Given the description of an element on the screen output the (x, y) to click on. 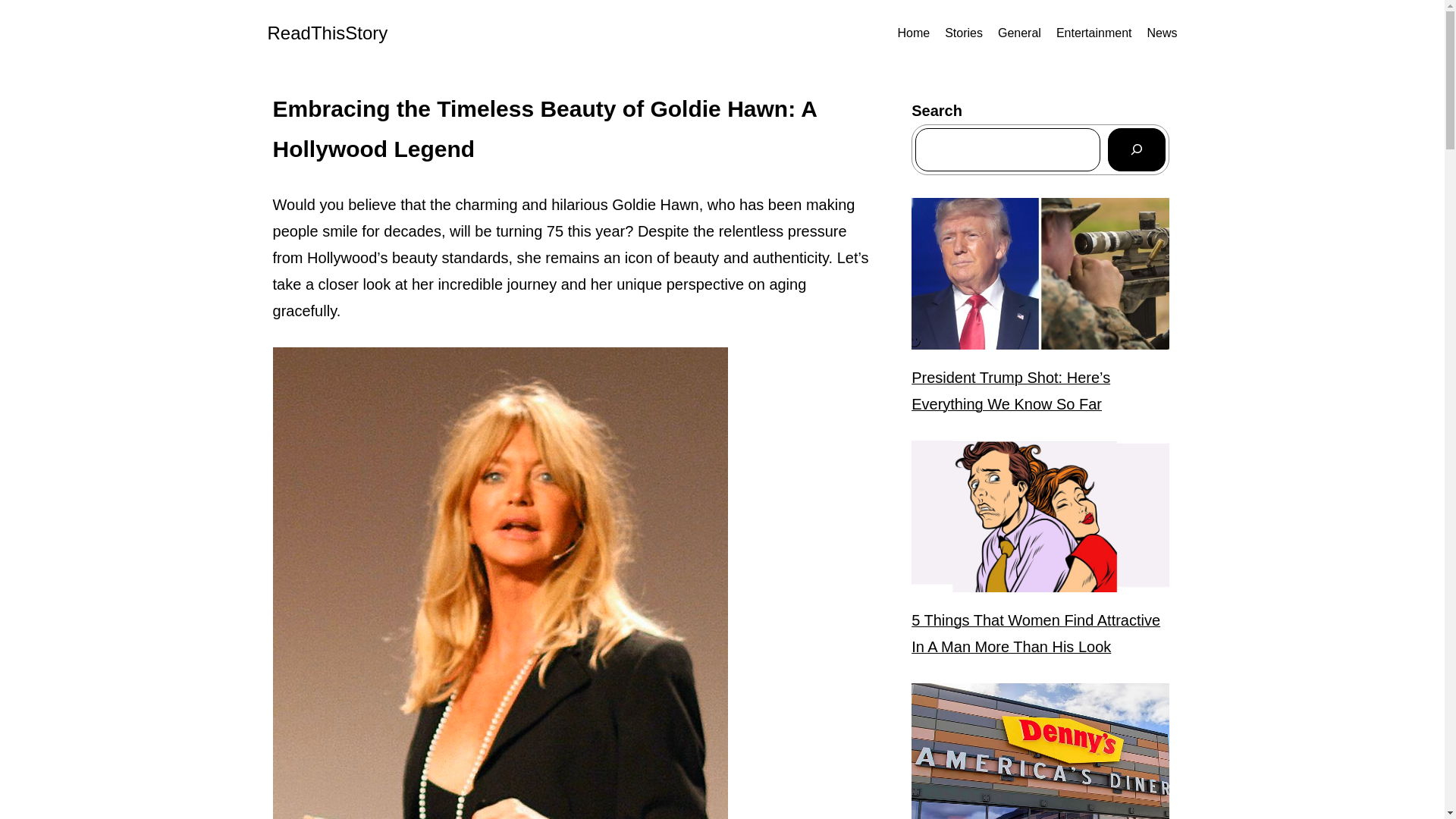
Stories (963, 33)
News (1161, 33)
Entertainment (1094, 33)
Home (913, 33)
General (1019, 33)
ReadThisStory (326, 32)
